Given the description of an element on the screen output the (x, y) to click on. 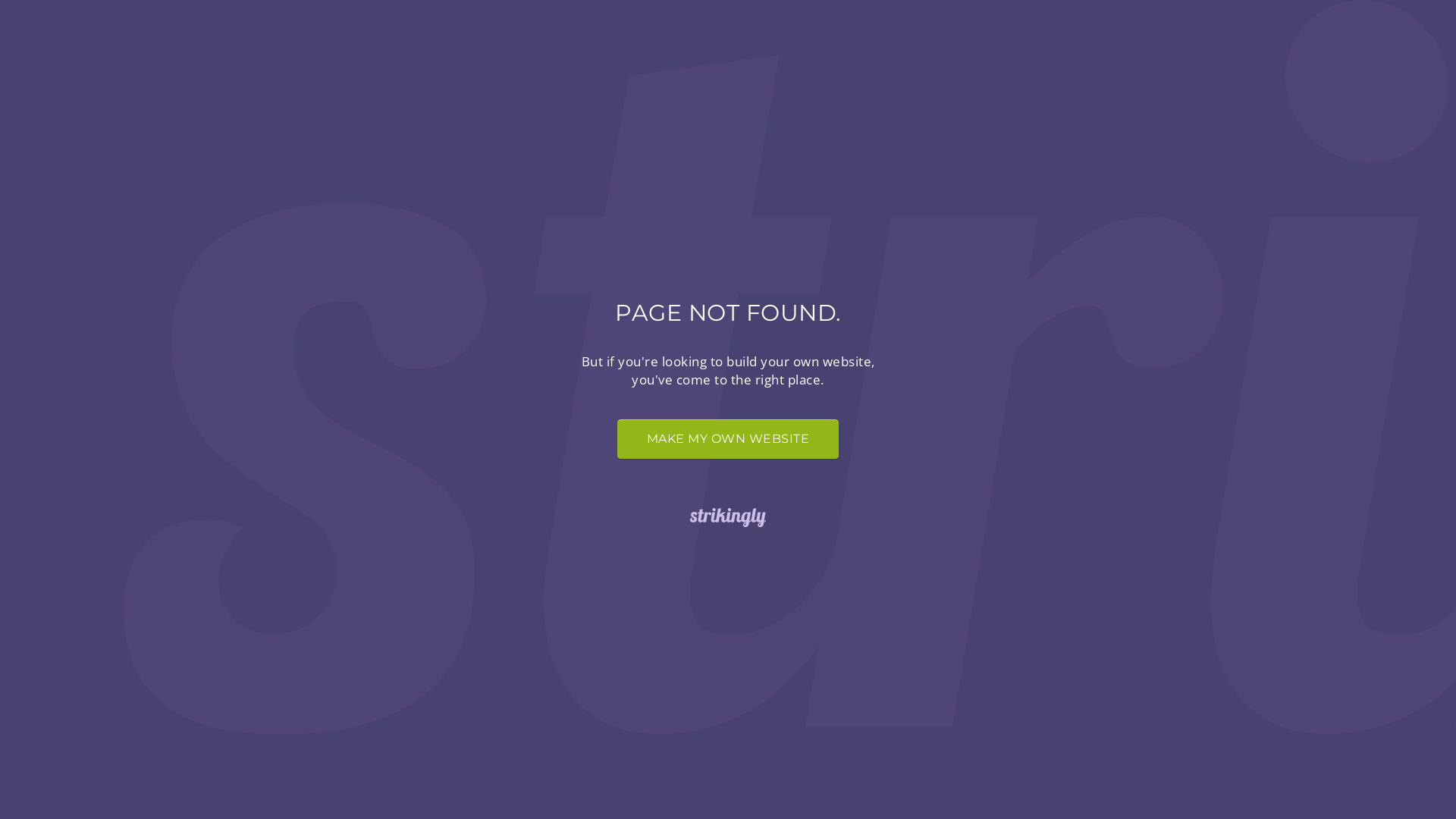
MAKE MY OWN WEBSITE Element type: text (727, 438)
